Given the description of an element on the screen output the (x, y) to click on. 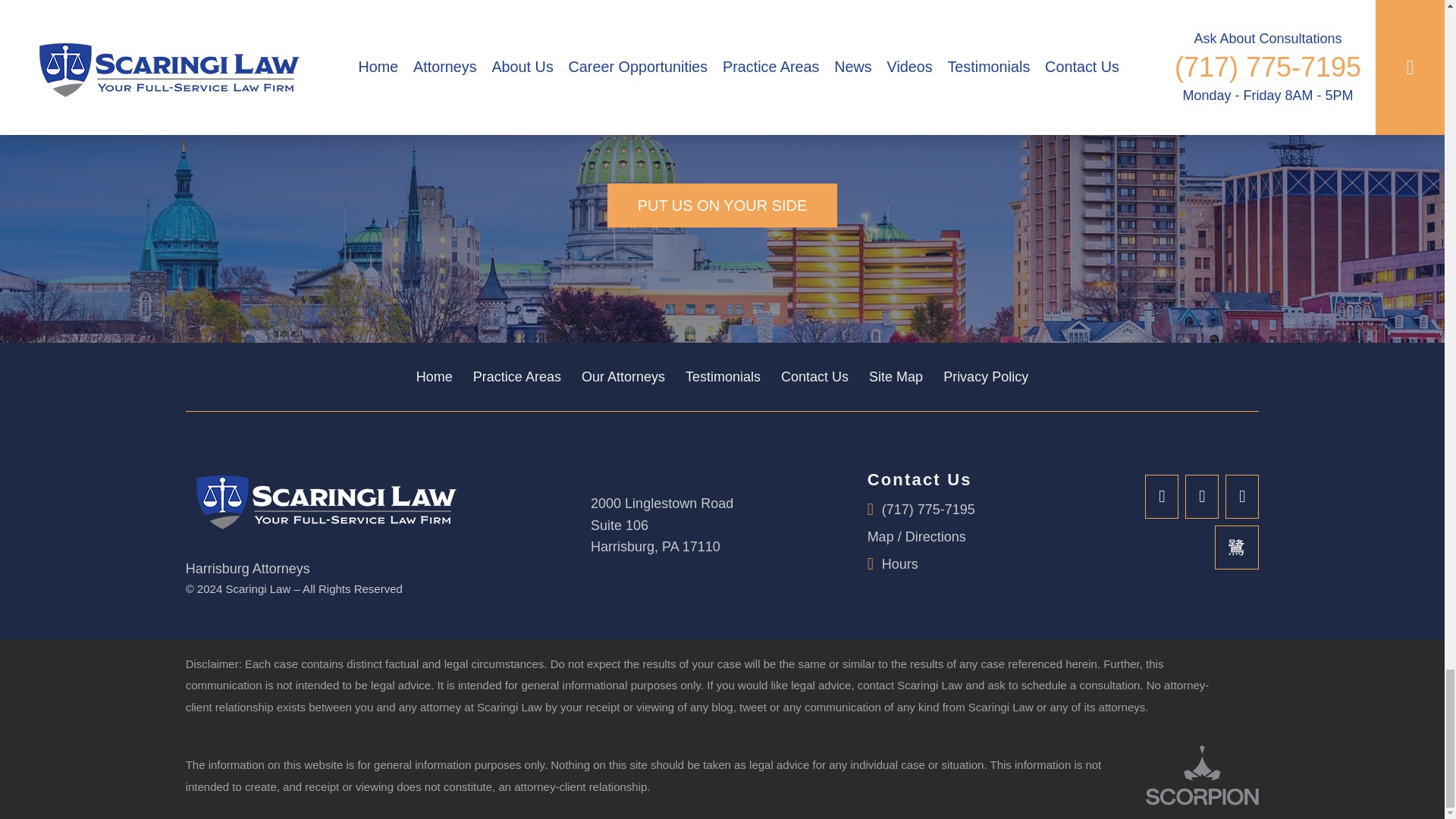
Scorpion Legal Internet Marketing (1202, 775)
Scaringi Law (321, 499)
